Given the description of an element on the screen output the (x, y) to click on. 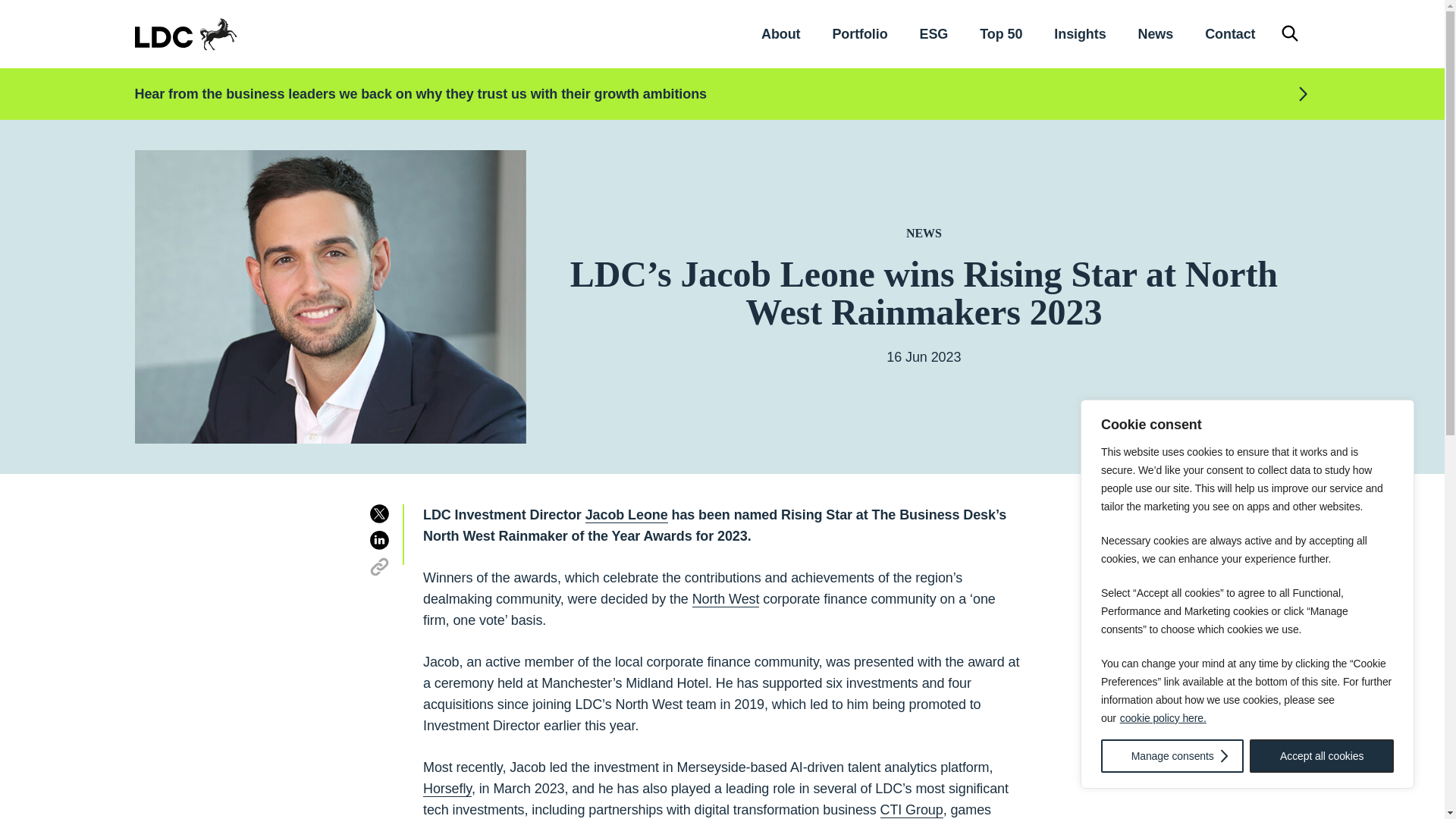
cookie policy here. (1163, 717)
About (780, 33)
Manage consents (1171, 756)
Accept all cookies (1321, 756)
